Given the description of an element on the screen output the (x, y) to click on. 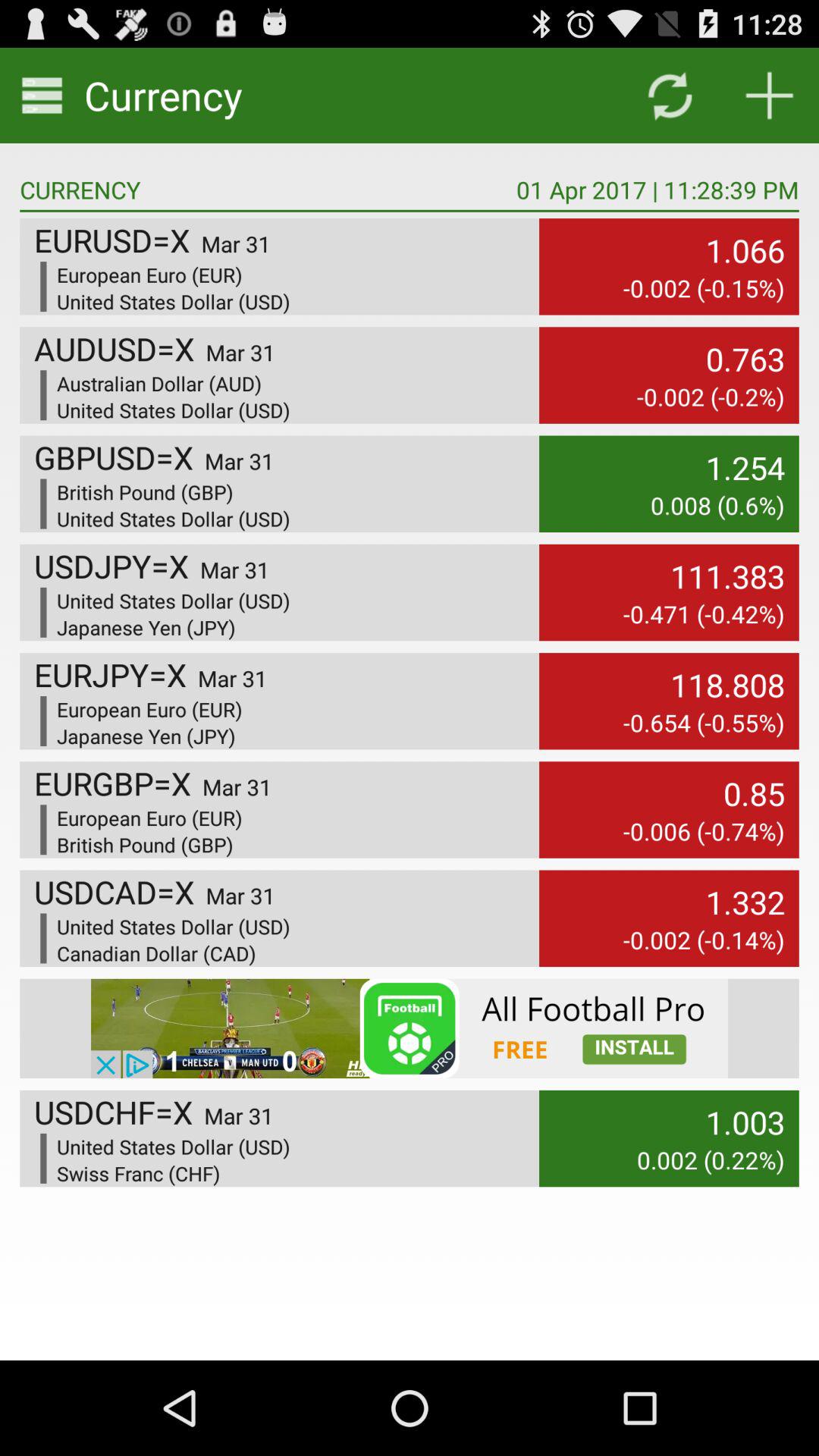
click to view add (409, 1028)
